Given the description of an element on the screen output the (x, y) to click on. 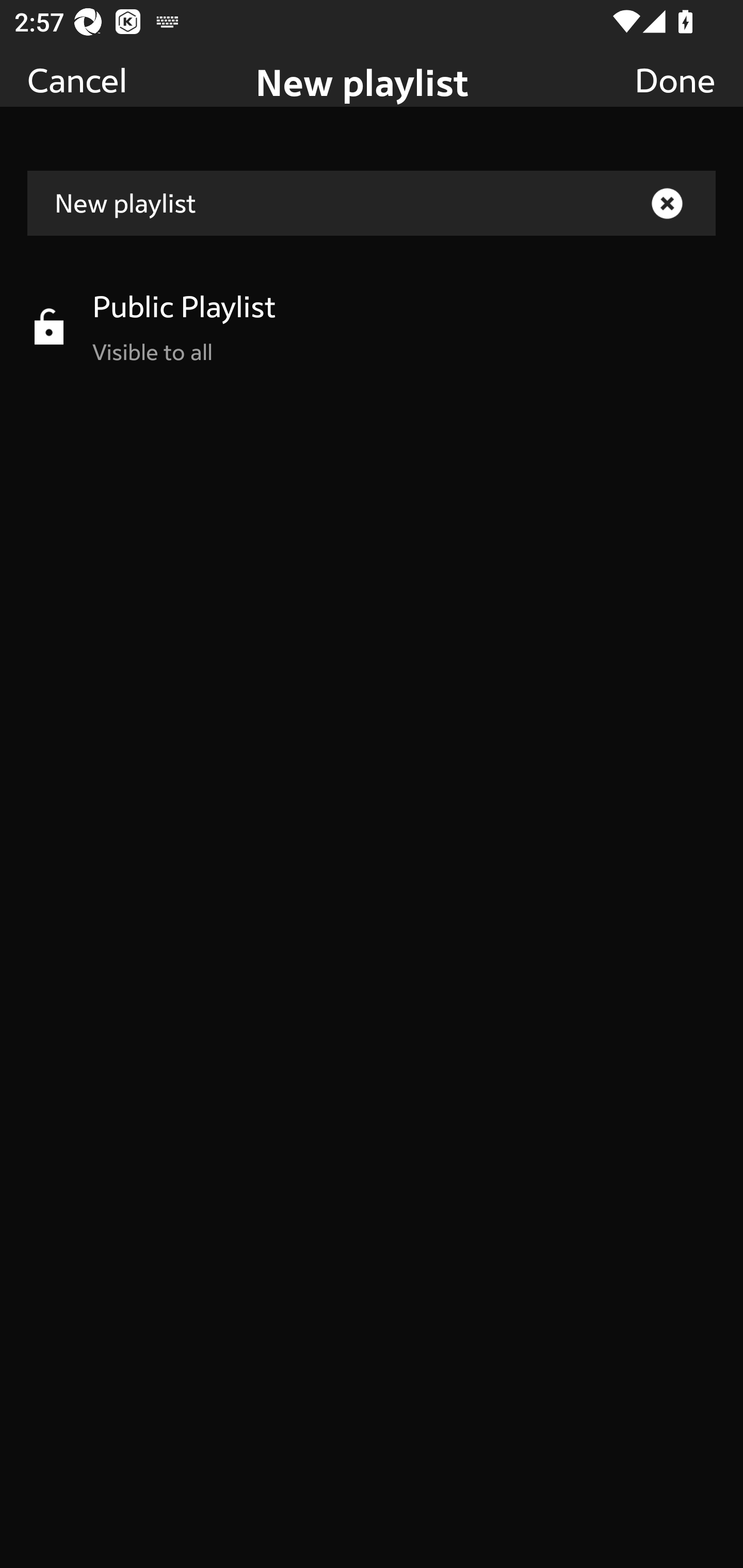
Cancel New playlist Done (371, 53)
Cancel (77, 79)
Done (675, 79)
New playlist (371, 202)
Public Playlist Visible to all (371, 326)
